Given the description of an element on the screen output the (x, y) to click on. 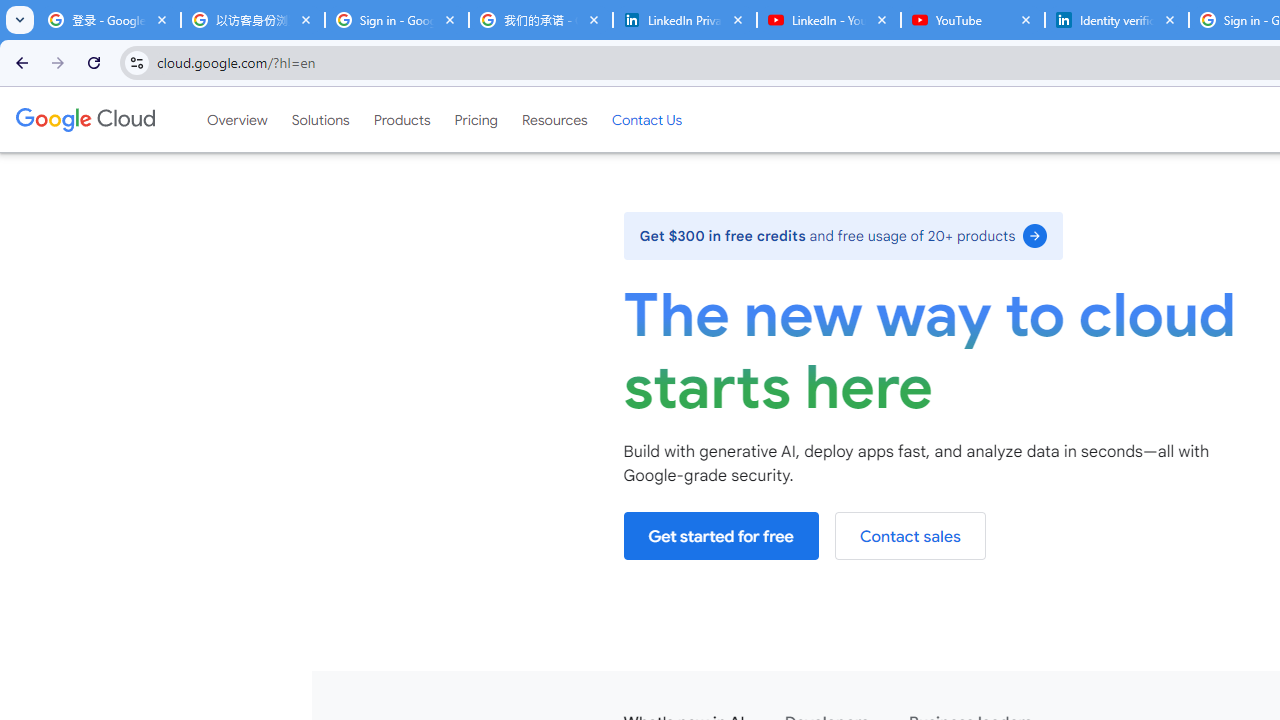
LinkedIn - YouTube (828, 20)
Pricing (476, 119)
Products (401, 119)
Contact sales (909, 535)
Get $300 in free credits and free usage of 20+ products (843, 235)
Contact Us (646, 119)
Solutions (320, 119)
YouTube (972, 20)
